Given the description of an element on the screen output the (x, y) to click on. 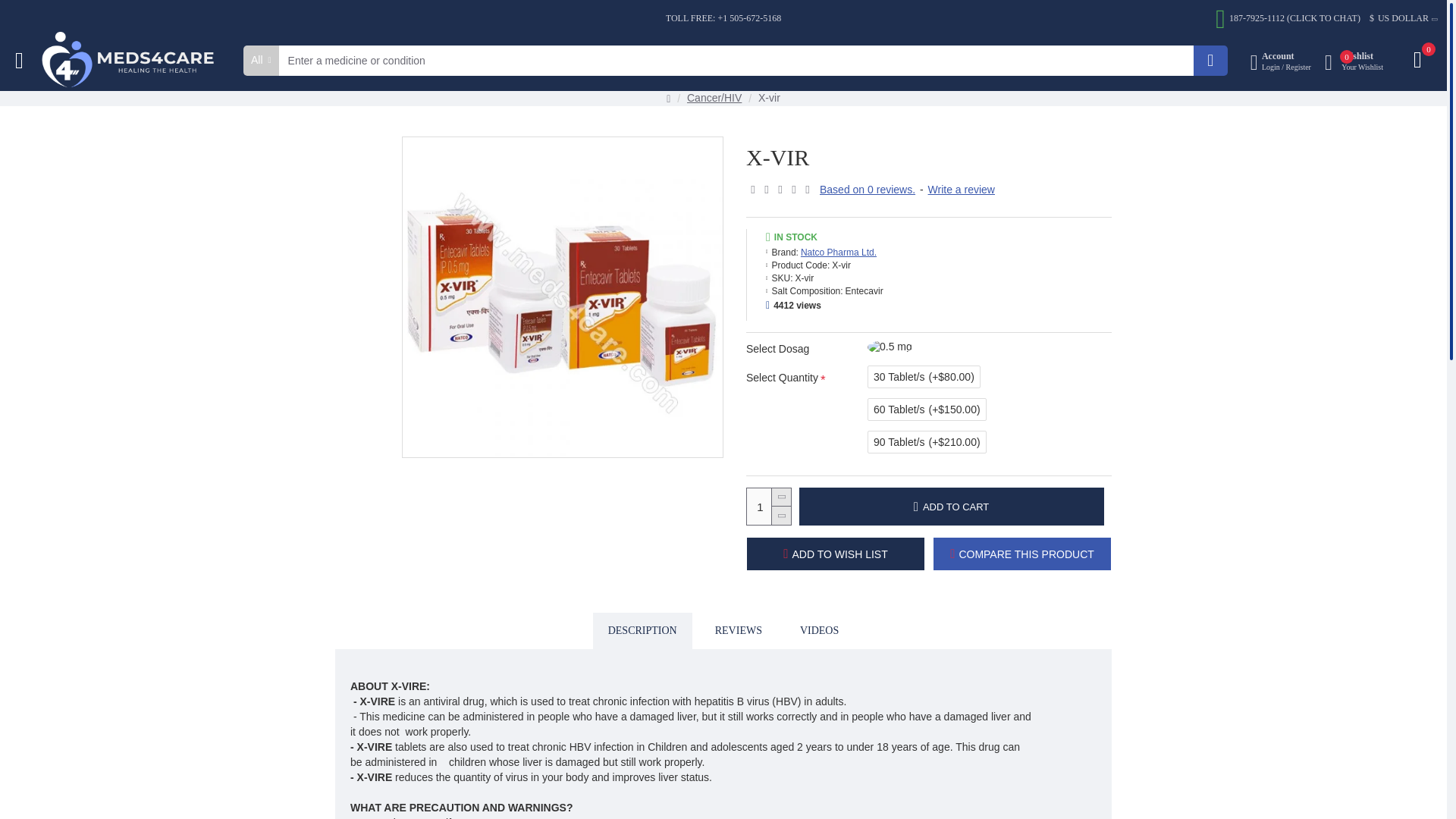
Meds4care (133, 60)
0.5 mg    (889, 346)
X-vir (562, 297)
1 (768, 506)
